Given the description of an element on the screen output the (x, y) to click on. 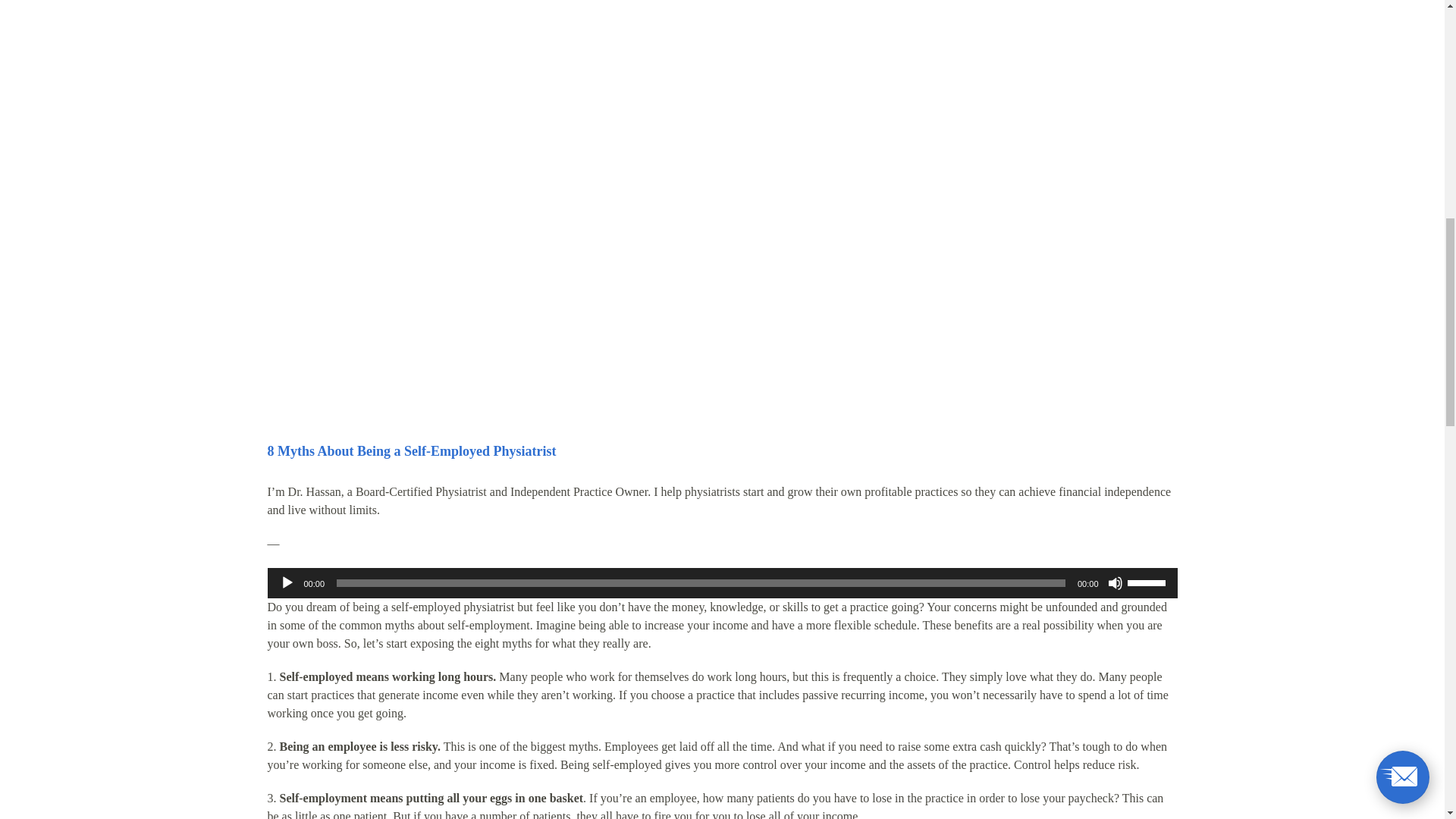
Play (286, 582)
Mute (1114, 582)
